Given the description of an element on the screen output the (x, y) to click on. 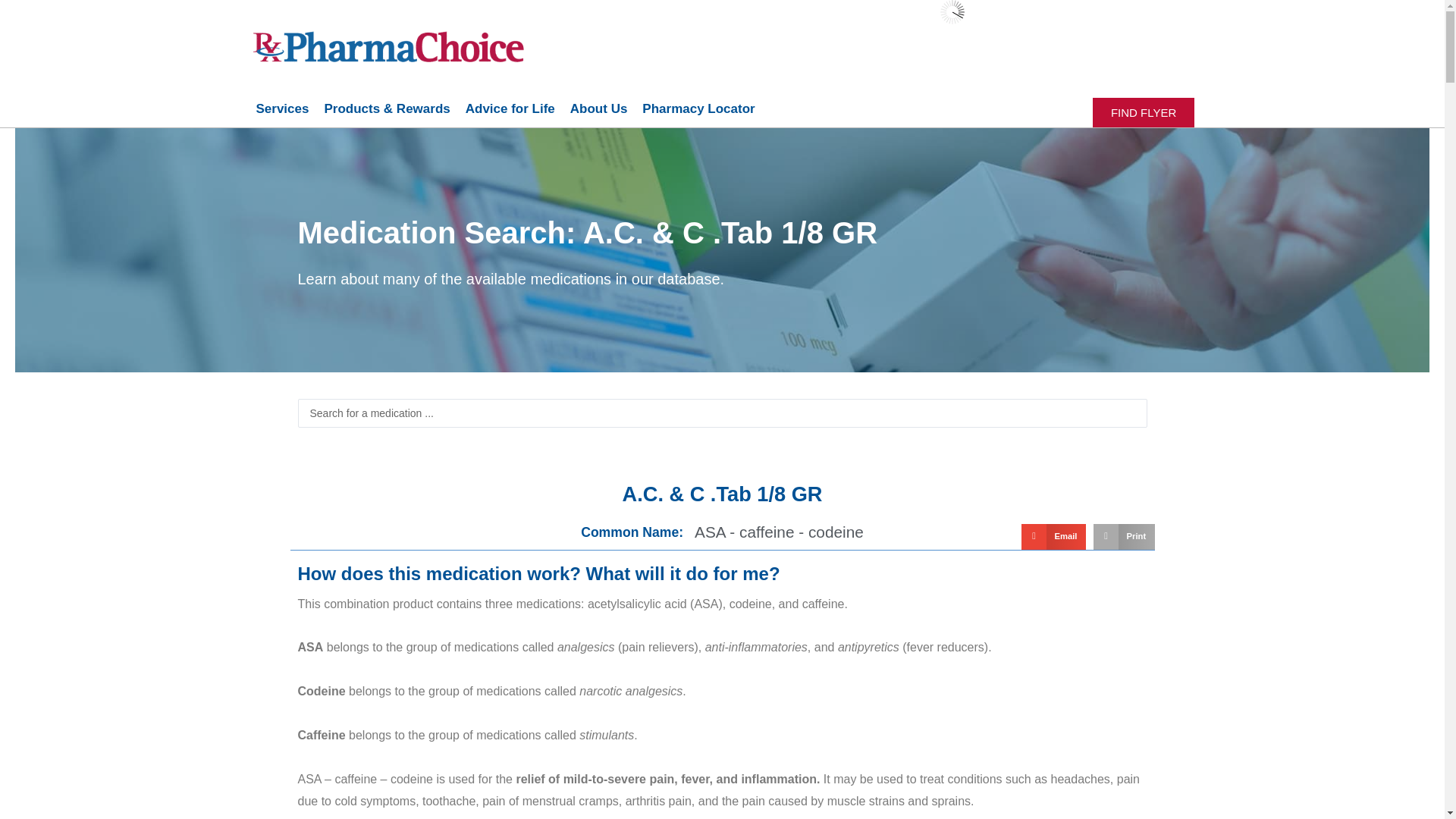
Pharmacy Locator (697, 108)
About Us (598, 108)
Advice for Life (510, 108)
Services (282, 108)
